Given the description of an element on the screen output the (x, y) to click on. 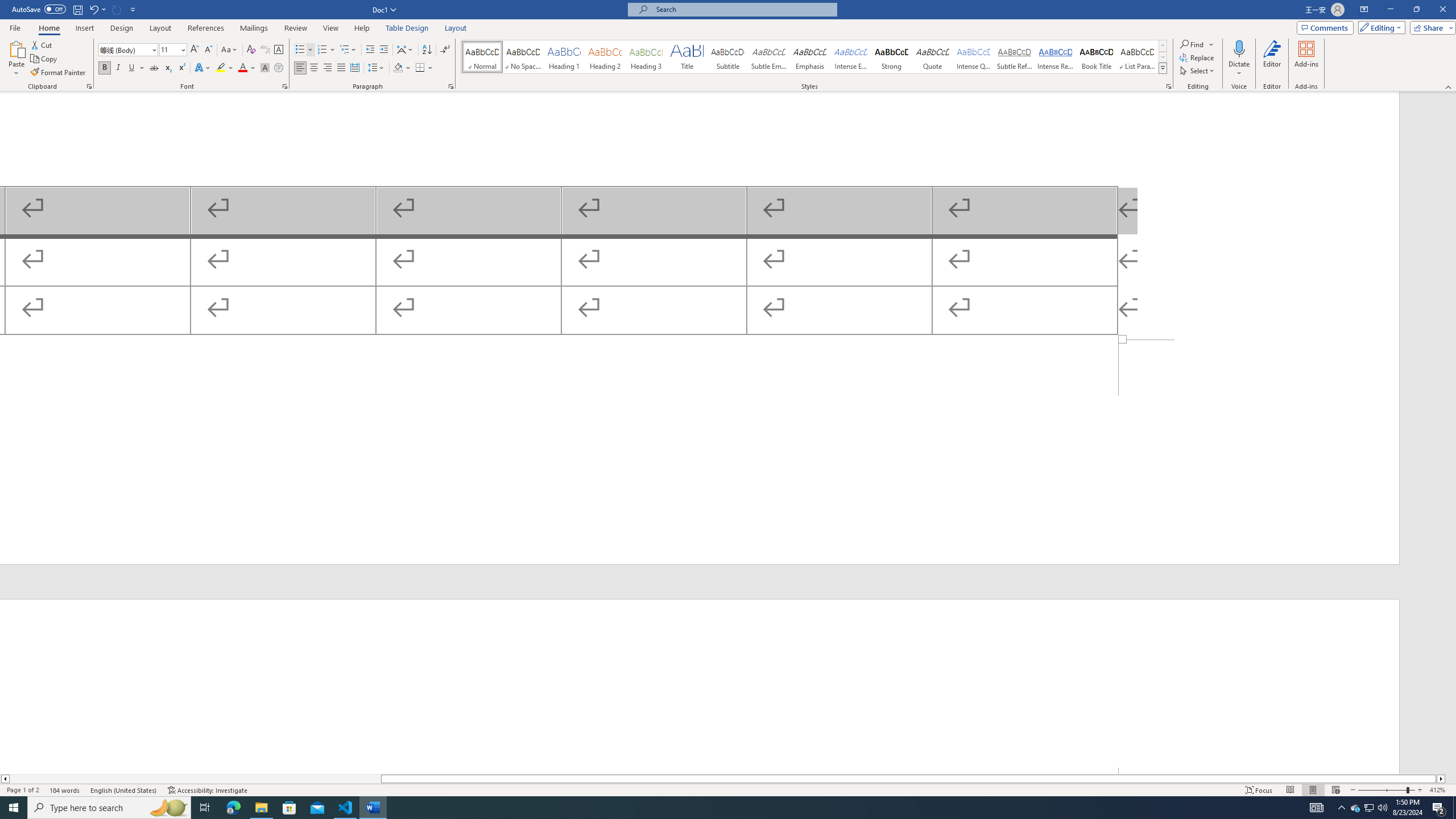
Page 1 content (699, 215)
Heading 3 (646, 56)
